Given the description of an element on the screen output the (x, y) to click on. 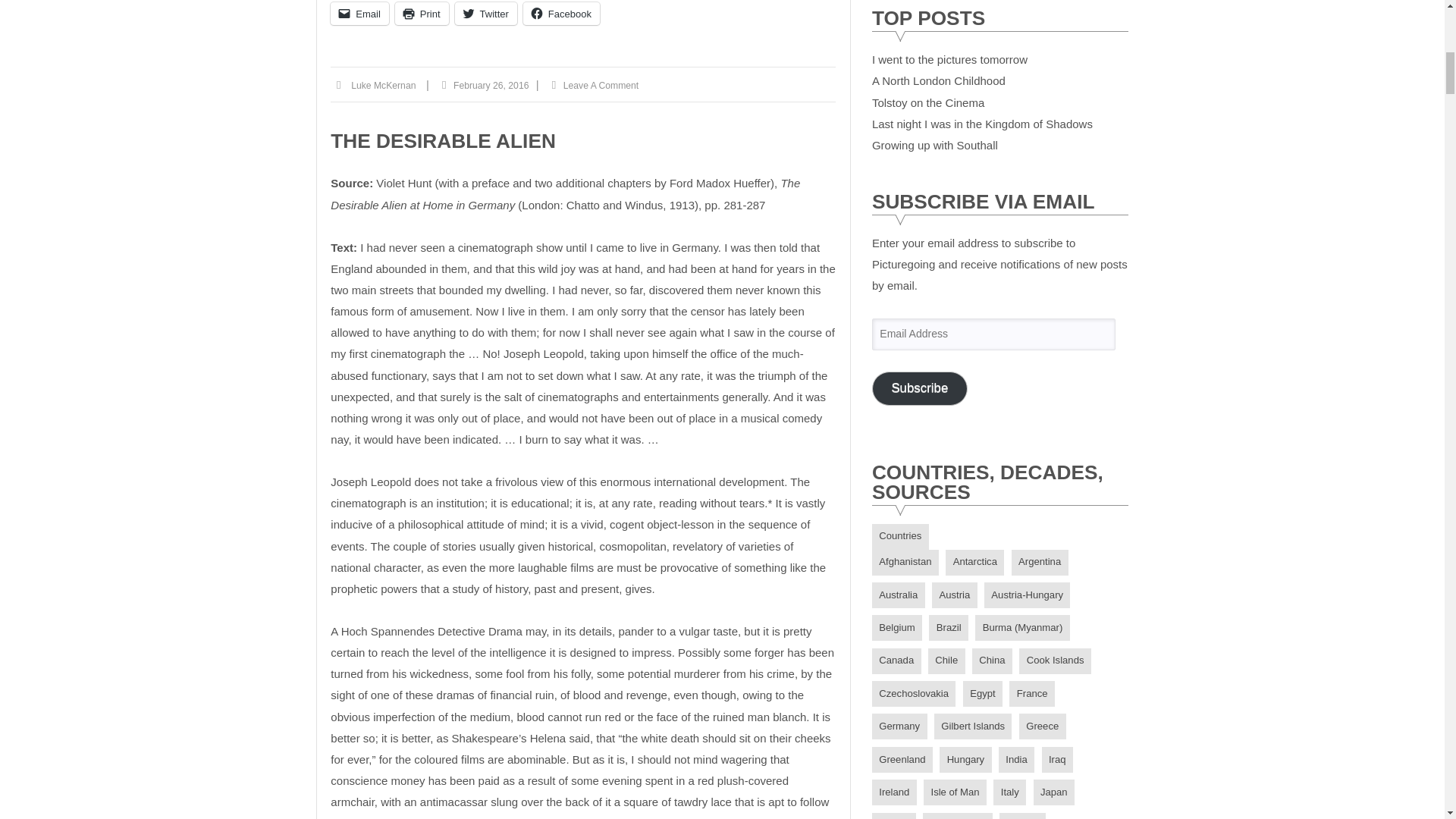
Twitter (485, 13)
Click to email a link to a friend (359, 13)
Luke McKernan (382, 85)
February 26, 2016 (490, 85)
Email (359, 13)
Leave A Comment (601, 85)
Facebook (560, 13)
Click to print (421, 13)
THE DESIRABLE ALIEN (443, 140)
Print (421, 13)
